Given the description of an element on the screen output the (x, y) to click on. 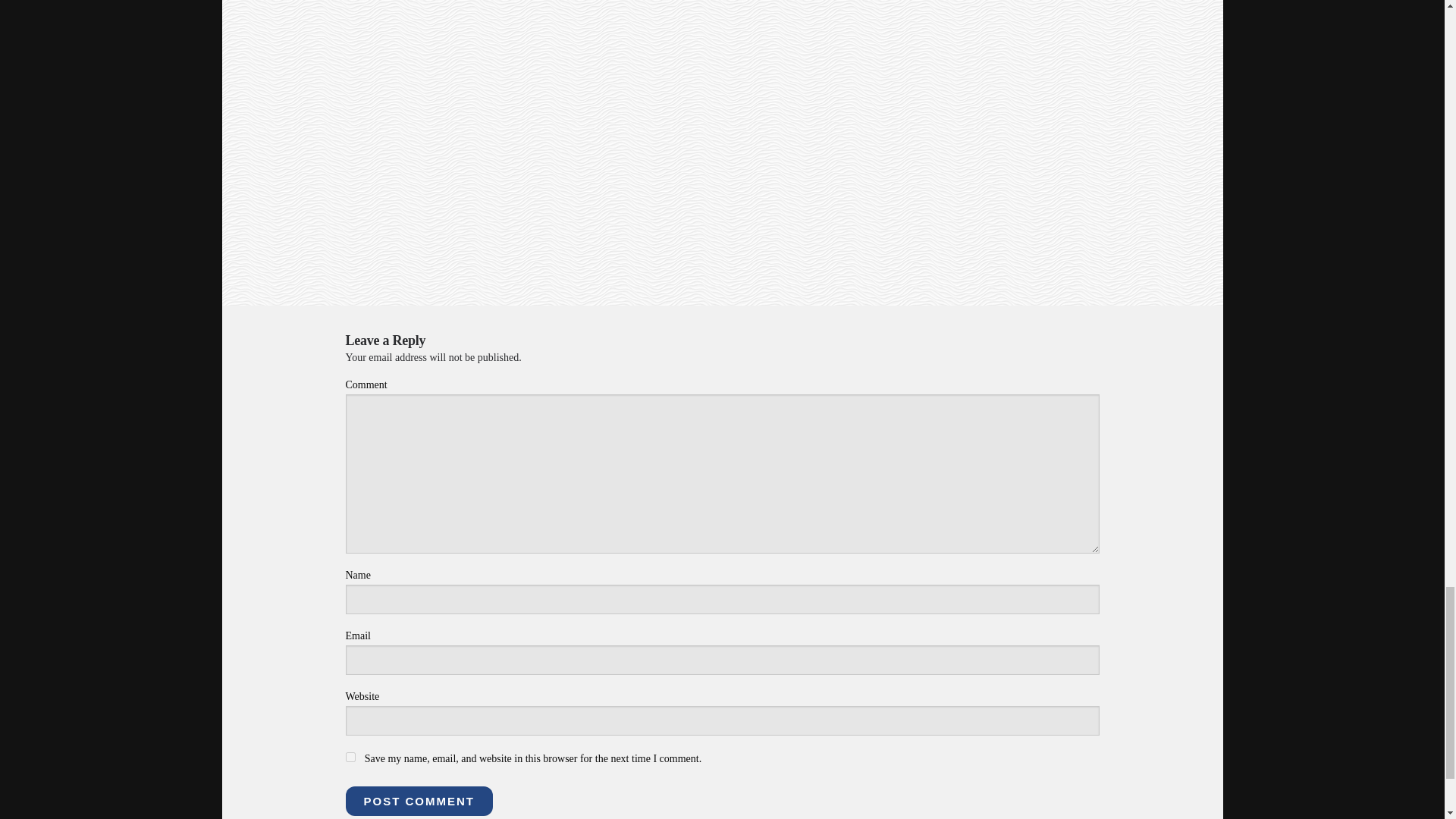
Post Comment (419, 800)
yes (350, 757)
